Given the description of an element on the screen output the (x, y) to click on. 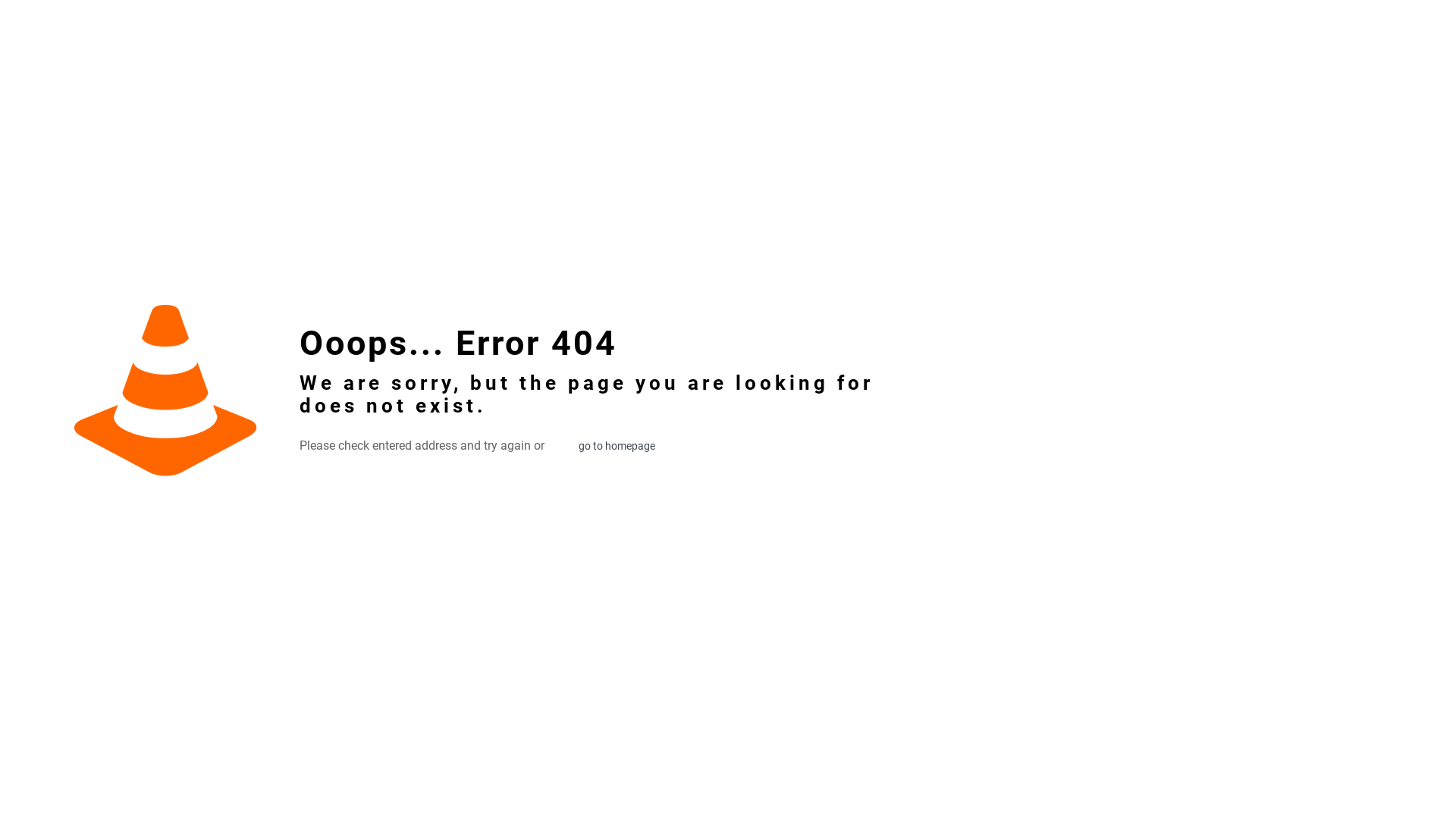
go to homepage Element type: text (616, 445)
